Given the description of an element on the screen output the (x, y) to click on. 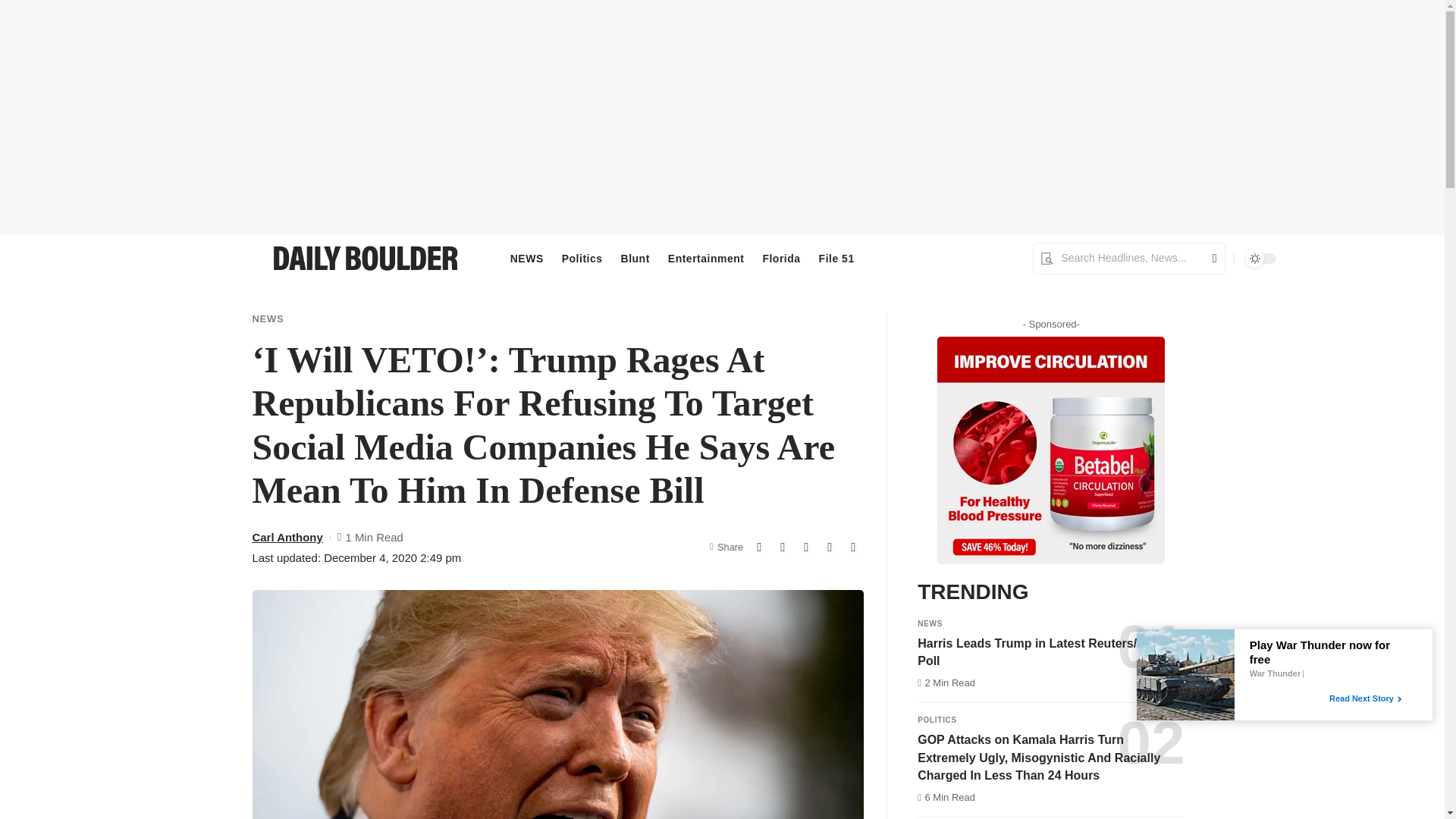
Entertainment (706, 258)
File 51 (836, 258)
Search (1208, 258)
Blunt (635, 258)
Florida (780, 258)
NEWS (526, 258)
Politics (582, 258)
